Given the description of an element on the screen output the (x, y) to click on. 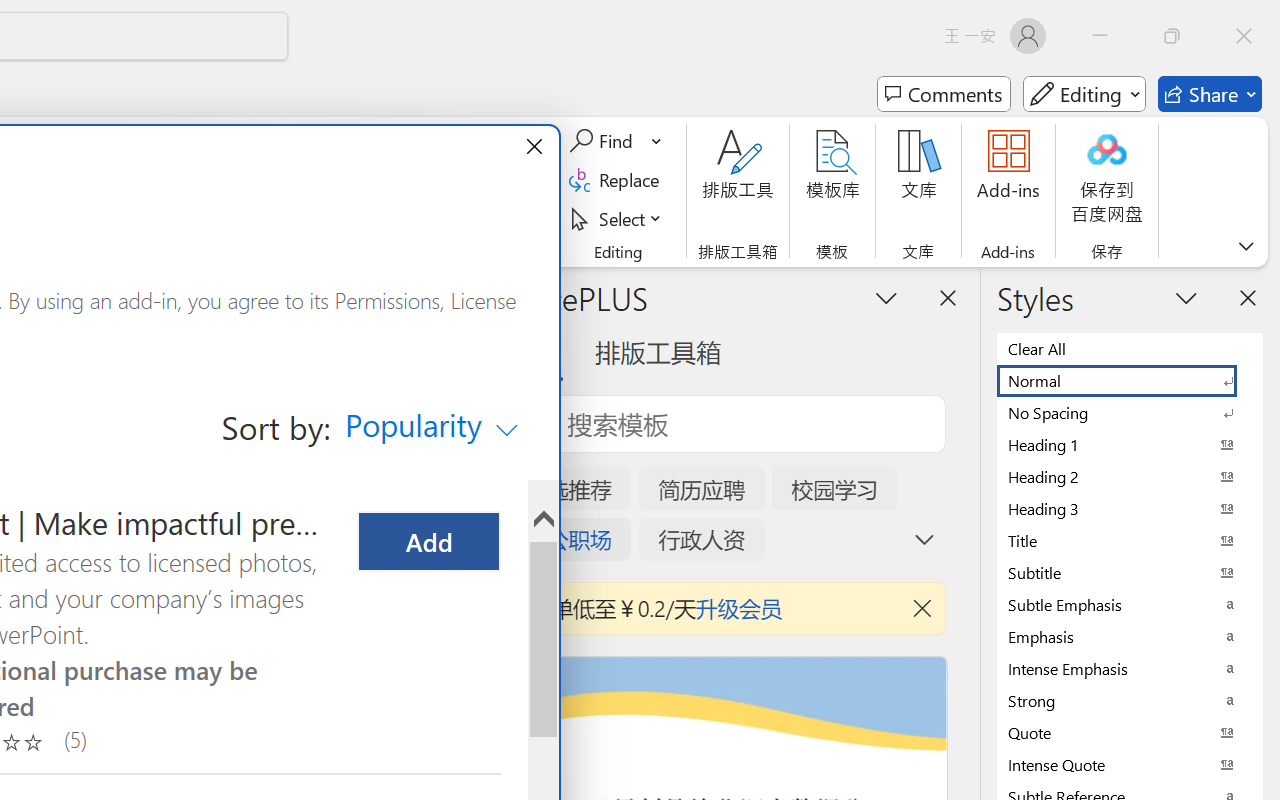
Add Pickit | Make impactful presentations in minutes (428, 541)
Intense Quote (1130, 764)
Normal (1130, 380)
Heading 3 (1130, 508)
Task Pane Options (431, 426)
Subtitle (886, 297)
Strong (1130, 572)
Clear All (1130, 700)
